Given the description of an element on the screen output the (x, y) to click on. 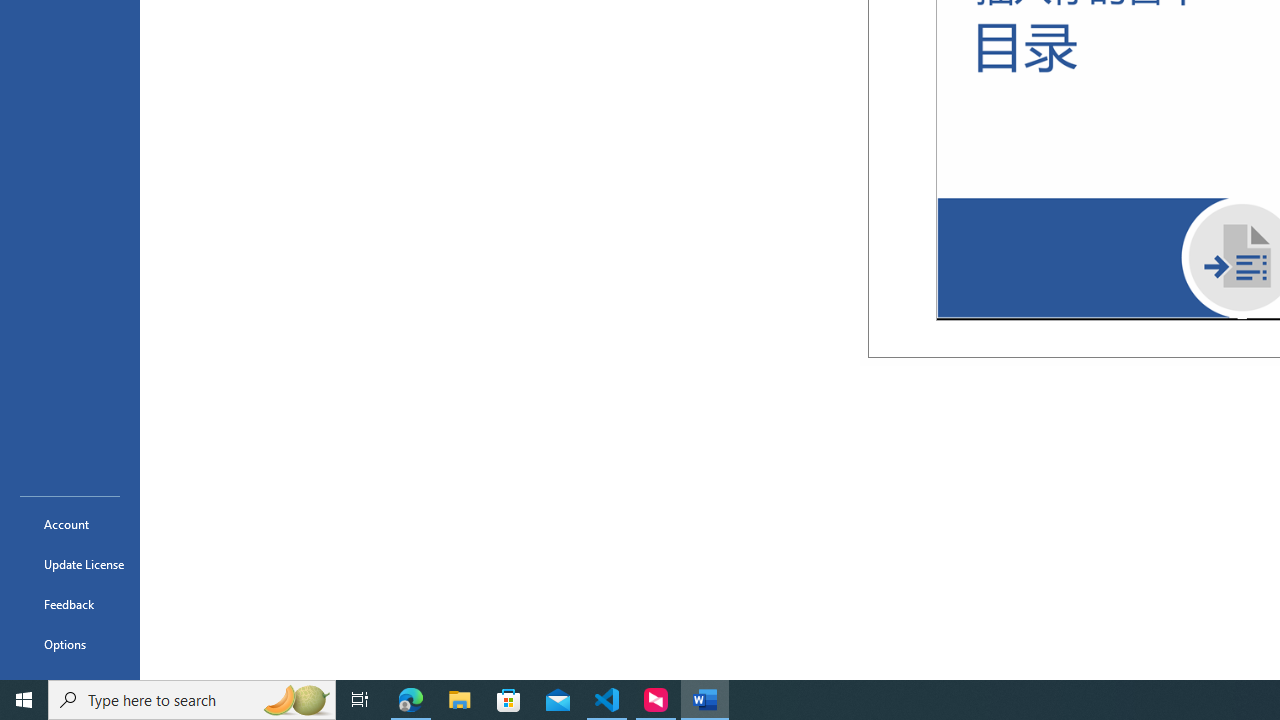
Feedback (69, 603)
Update License (69, 563)
Account (69, 523)
Options (69, 643)
